Given the description of an element on the screen output the (x, y) to click on. 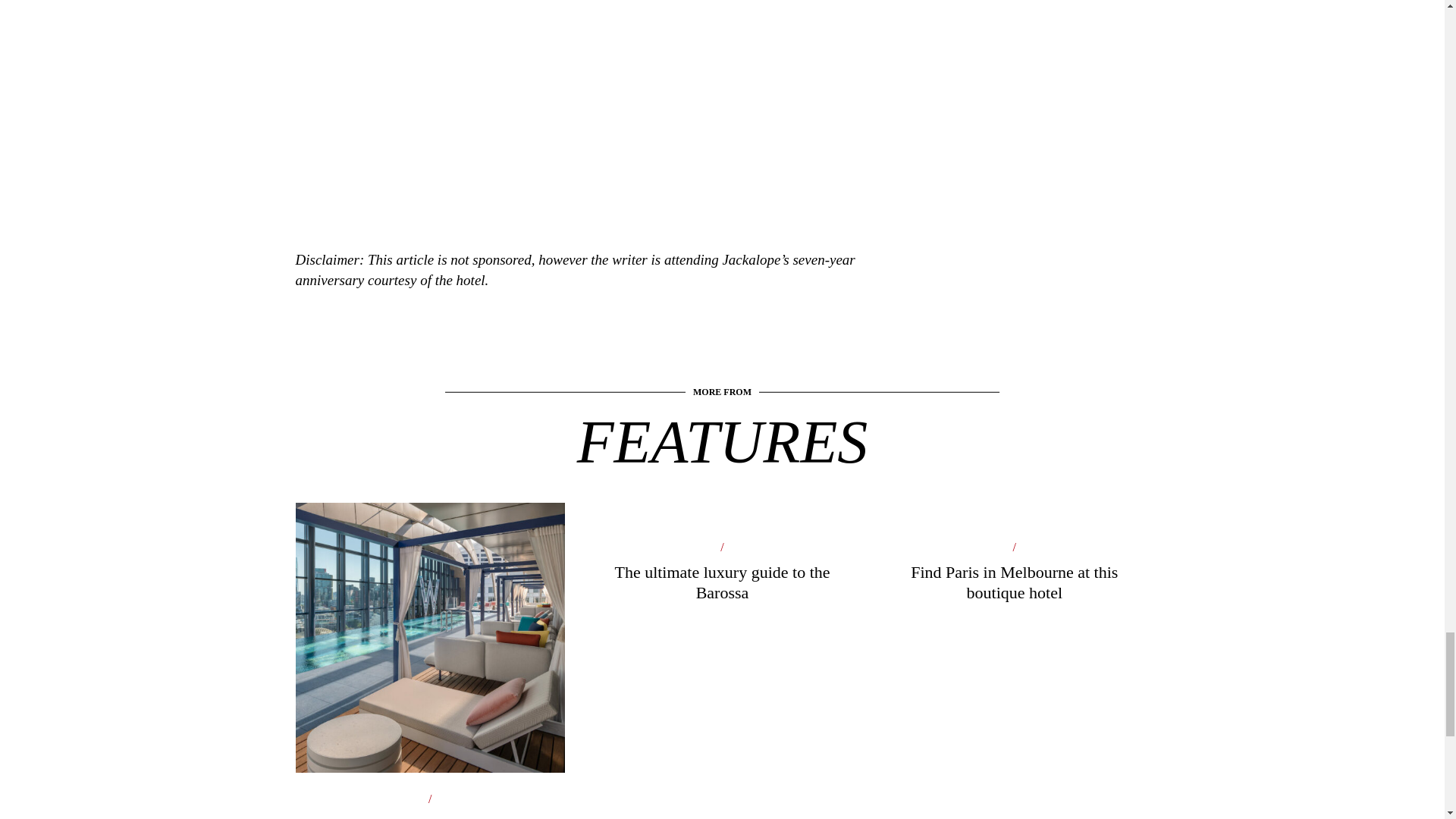
Find Paris in Melbourne at this boutique hotel (1013, 588)
How a staycation can boost your winter wellness (429, 724)
The ultimate luxury guide to the Barossa (722, 588)
The ultimate luxury guide to the Barossa (722, 588)
How a staycation can boost your winter wellness (429, 724)
